Given the description of an element on the screen output the (x, y) to click on. 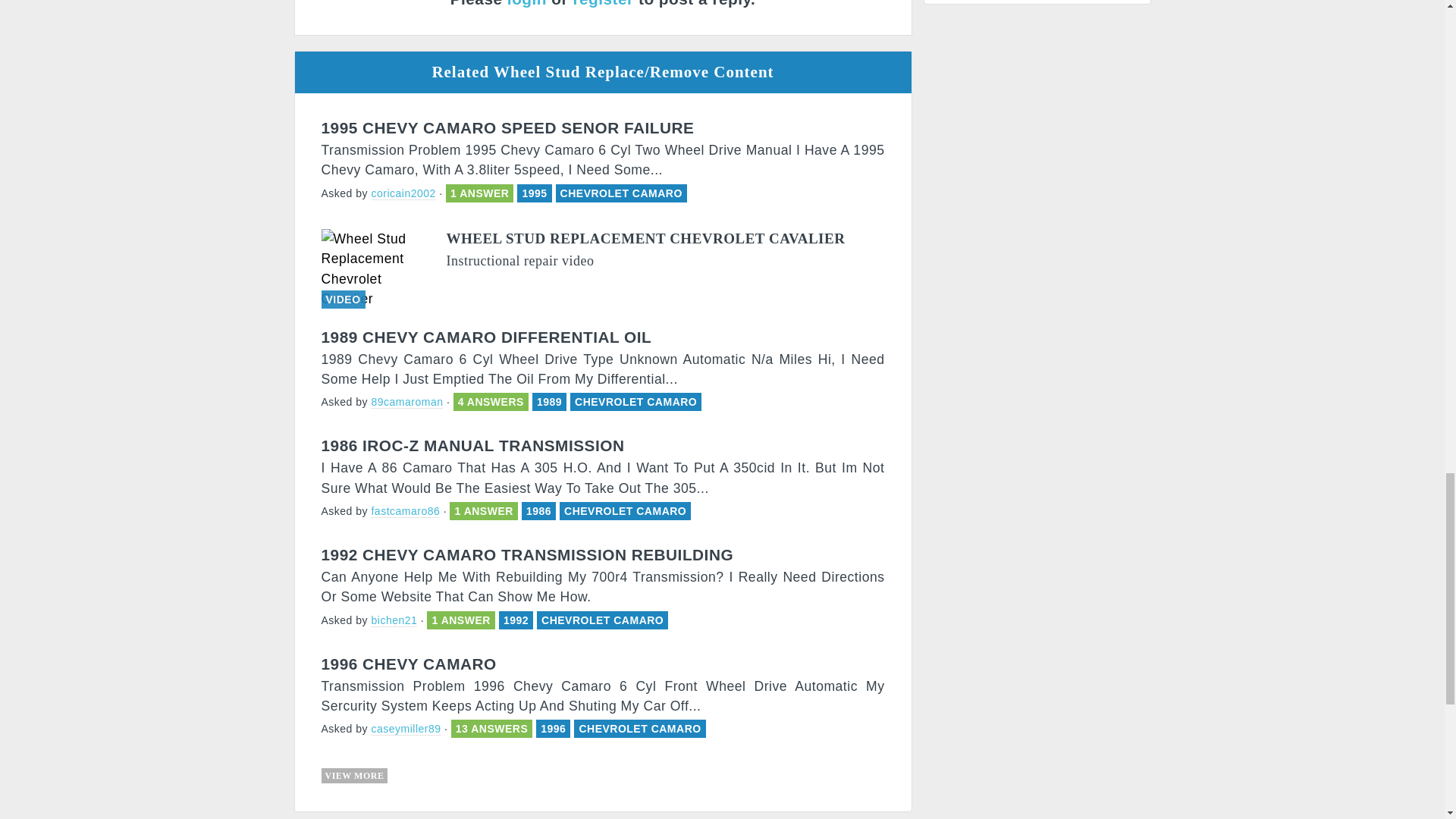
fastcamaro86 (405, 511)
CHEVROLET CAMARO (602, 620)
coricain2002 (403, 193)
login (526, 3)
CHEVROLET CAMARO (636, 401)
CHEVROLET CAMARO (621, 193)
bichen21 (393, 620)
CHEVROLET CAMARO (624, 510)
